Given the description of an element on the screen output the (x, y) to click on. 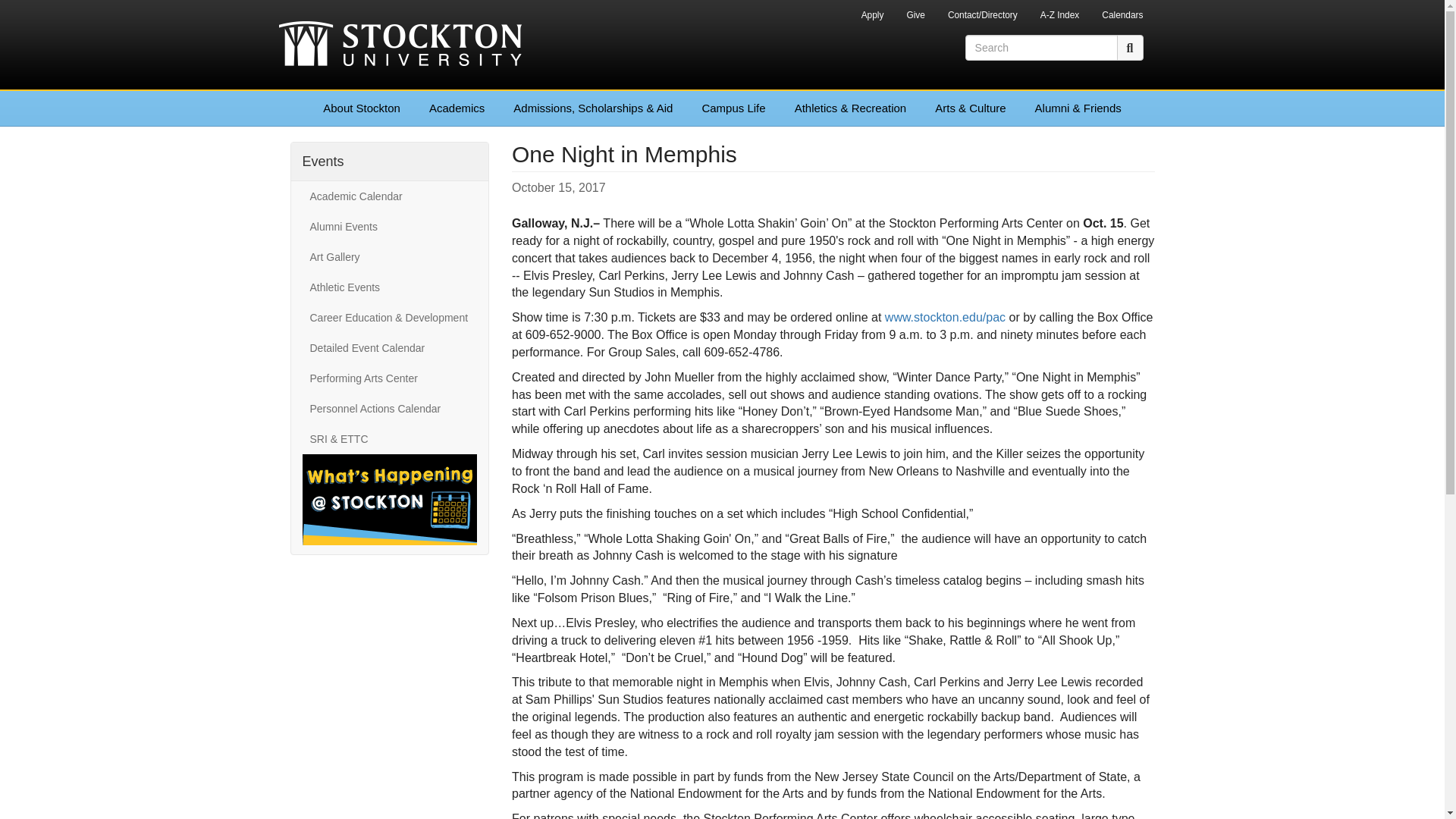
Calendars (1122, 17)
Search (1129, 47)
Academics (456, 108)
Give (915, 17)
Campus Life (732, 108)
Go Portal (830, 11)
Athletic Events (389, 286)
Detailed Event Calendar (389, 347)
Art Gallery (389, 256)
A-Z Index (1059, 17)
